Given the description of an element on the screen output the (x, y) to click on. 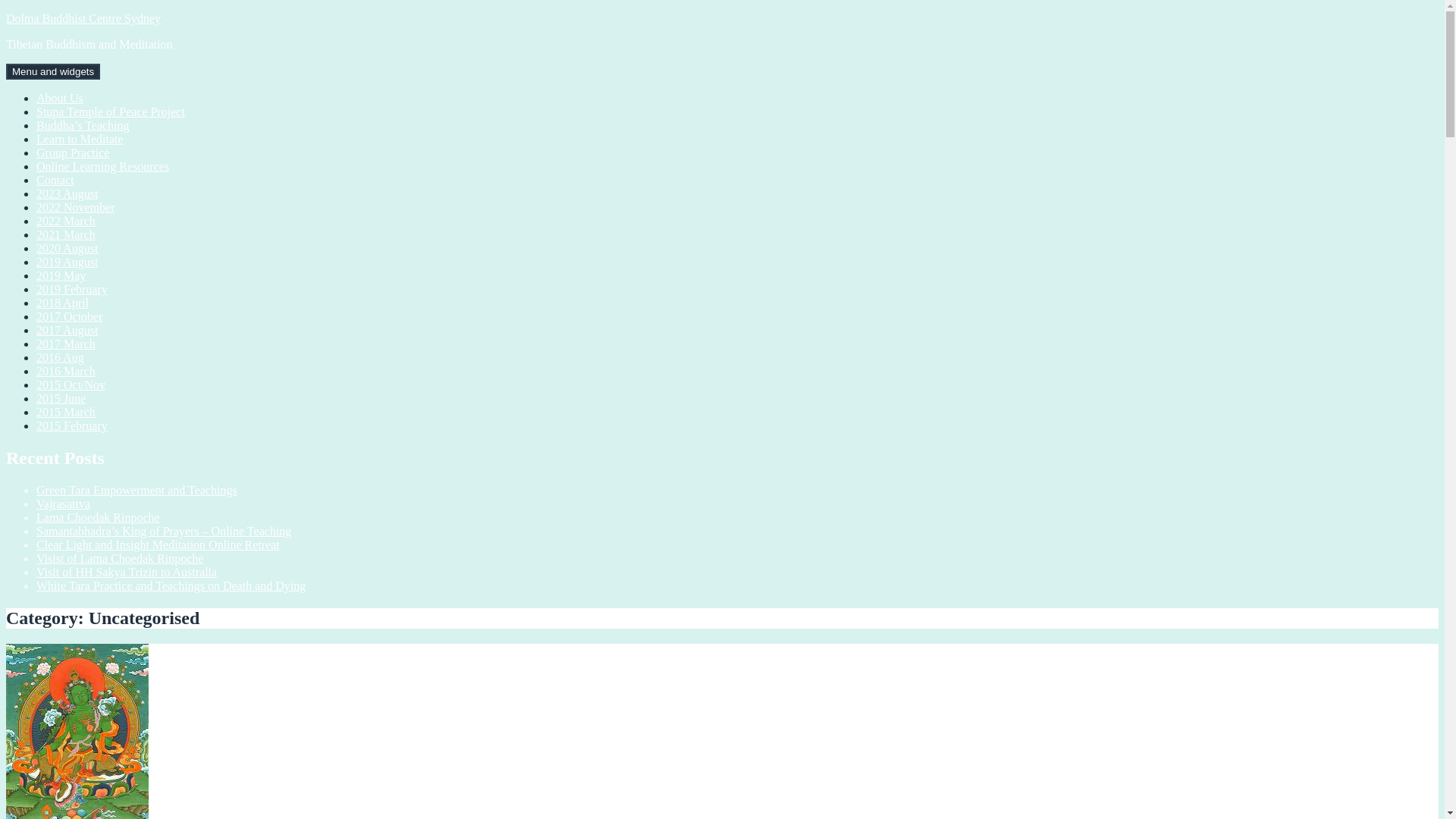
2015 June Element type: text (60, 398)
2022 March Element type: text (65, 220)
Green Tara Empowerment and Teachings Element type: text (136, 489)
Contact Element type: text (55, 179)
2022 November Element type: text (75, 206)
2023 August Element type: text (66, 193)
2018 April Element type: text (62, 302)
2021 March Element type: text (65, 234)
Learn to Meditate Element type: text (79, 138)
Stupa Temple of Peace Project Element type: text (110, 111)
2017 October Element type: text (69, 316)
Vajrasattva Element type: text (63, 503)
Clear Light and Insight Meditation Online Retreat Element type: text (157, 544)
2016 Aug Element type: text (60, 357)
Group Practice Element type: text (72, 152)
Lama Choedak Rinpoche Element type: text (98, 517)
2019 August Element type: text (66, 261)
Menu and widgets Element type: text (53, 71)
2015 March Element type: text (65, 411)
About Us Element type: text (59, 97)
2015 Oct/Nov Element type: text (70, 384)
2016 March Element type: text (65, 370)
Skip to content Element type: text (5, 11)
2017 March Element type: text (65, 343)
2015 February Element type: text (71, 425)
2019 May Element type: text (60, 275)
2017 August Element type: text (66, 329)
Visist of Lama Choedak Rinpoche Element type: text (119, 558)
Visit of HH Sakya Trizin to Australia Element type: text (126, 571)
Online Learning Resources Element type: text (102, 166)
2020 August Element type: text (66, 247)
White Tara Practice and Teachings on Death and Dying Element type: text (170, 585)
Dolma Buddhist Centre Sydney Element type: text (83, 18)
2019 February Element type: text (71, 288)
